Given the description of an element on the screen output the (x, y) to click on. 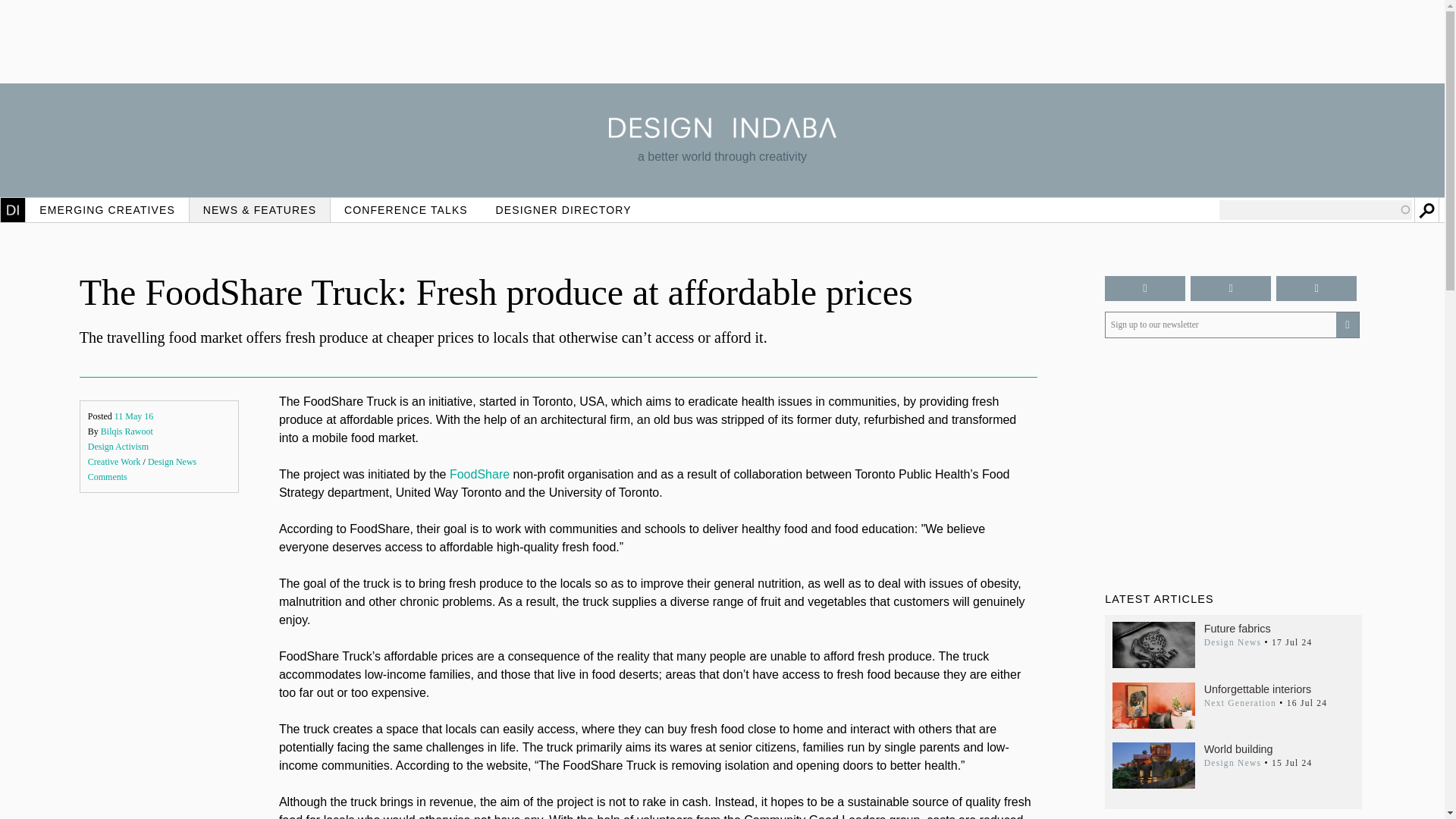
EMERGING CREATIVES (107, 209)
11 May 16 (134, 416)
Apply (1426, 209)
FoodShare (479, 473)
Bilqis Rawoot (126, 430)
Home (721, 133)
Comments (107, 476)
Creative Work (114, 461)
Design News (172, 461)
Apply (1426, 209)
HOME (13, 209)
CONFERENCE TALKS (405, 209)
3rd party ad content (721, 41)
DESIGNER DIRECTORY (563, 209)
Design Activism (117, 446)
